Given the description of an element on the screen output the (x, y) to click on. 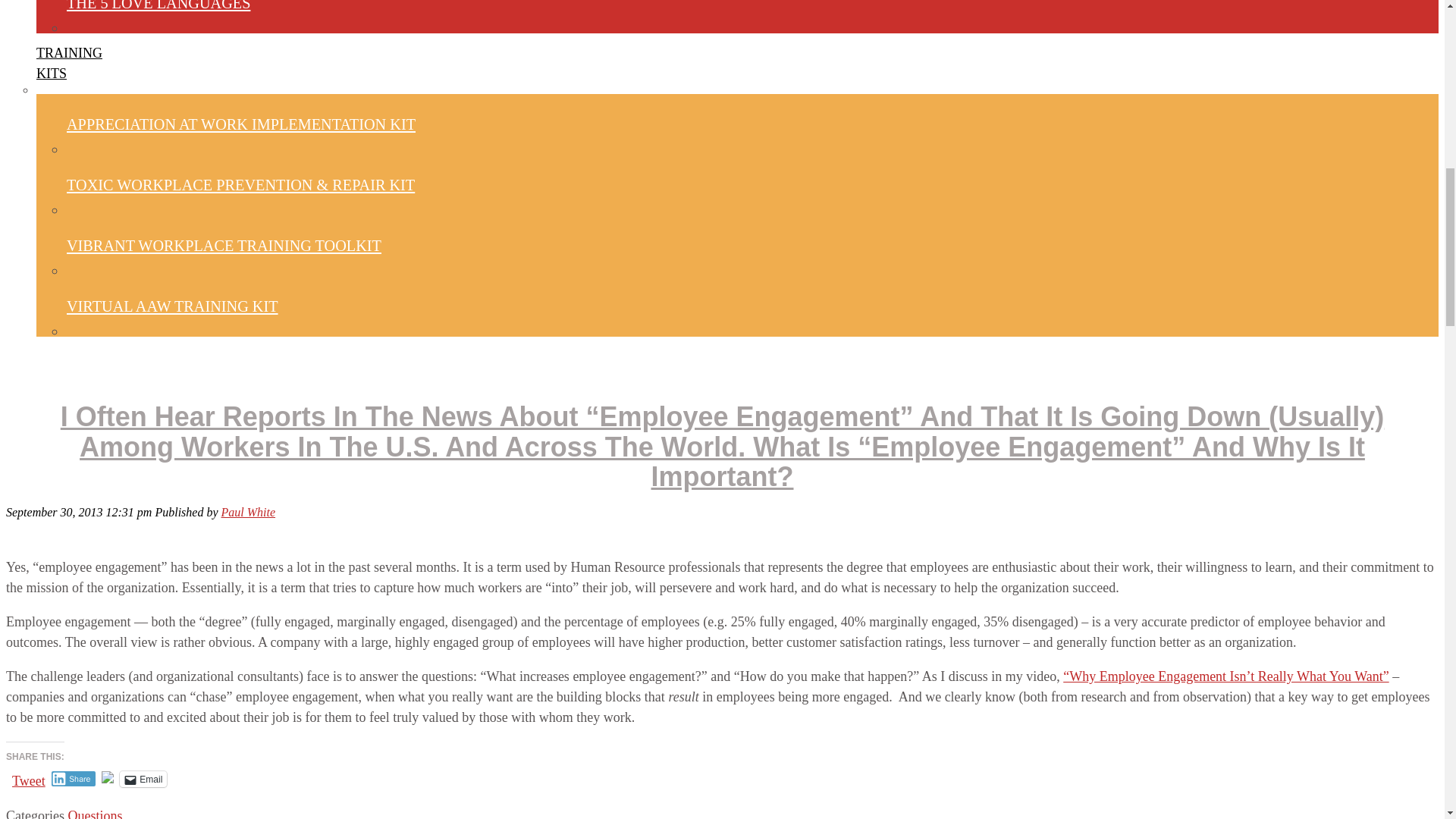
Tweet (28, 777)
VIRTUAL AAW TRAINING KIT (172, 306)
Email (143, 779)
APPRECIATION AT WORK IMPLEMENTATION KIT (240, 124)
Paul White (248, 512)
VIBRANT WORKPLACE TRAINING TOOLKIT (223, 245)
Questions (94, 813)
Click to email a link to a friend (68, 63)
Posts by Paul White (143, 779)
Share (248, 512)
THE 5 LOVE LANGUAGES (73, 778)
